Given the description of an element on the screen output the (x, y) to click on. 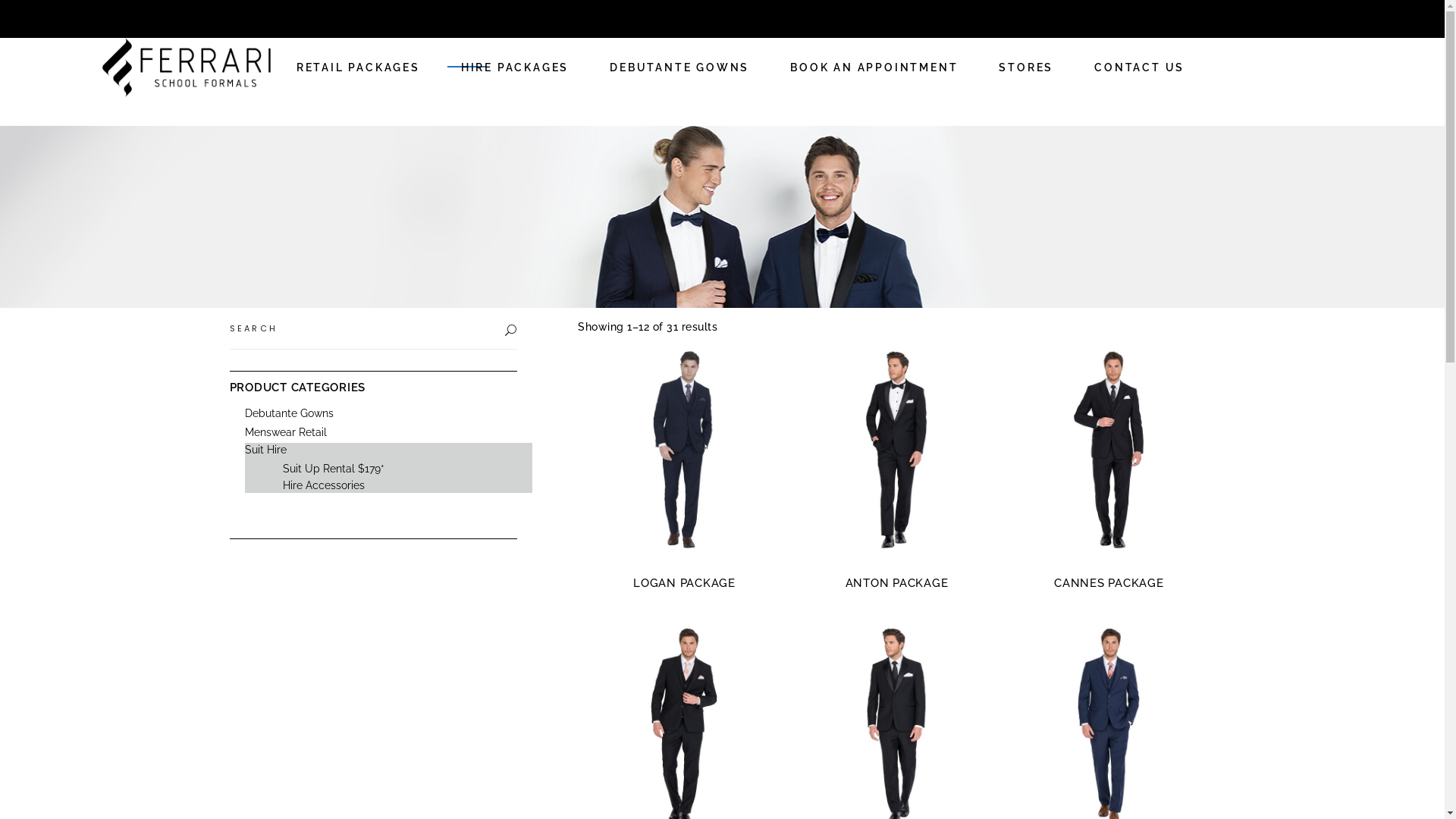
Hire Accessories Element type: text (323, 485)
HIRE PACKAGES Element type: text (514, 67)
Suit Up Rental $179* Element type: text (332, 468)
DEBUTANTE GOWNS Element type: text (679, 67)
Suit Hire Element type: text (264, 449)
RETAIL PACKAGES Element type: text (358, 67)
LOGAN PACKAGE Element type: text (684, 582)
BOOK AN APPOINTMENT Element type: text (873, 67)
STORES Element type: text (1025, 67)
Search for: Element type: hover (363, 327)
ANTON PACKAGE Element type: text (896, 582)
Debutante Gowns Element type: text (288, 413)
CONTACT US Element type: text (1138, 67)
CANNES PACKAGE Element type: text (1109, 582)
Menswear Retail Element type: text (285, 432)
